Given the description of an element on the screen output the (x, y) to click on. 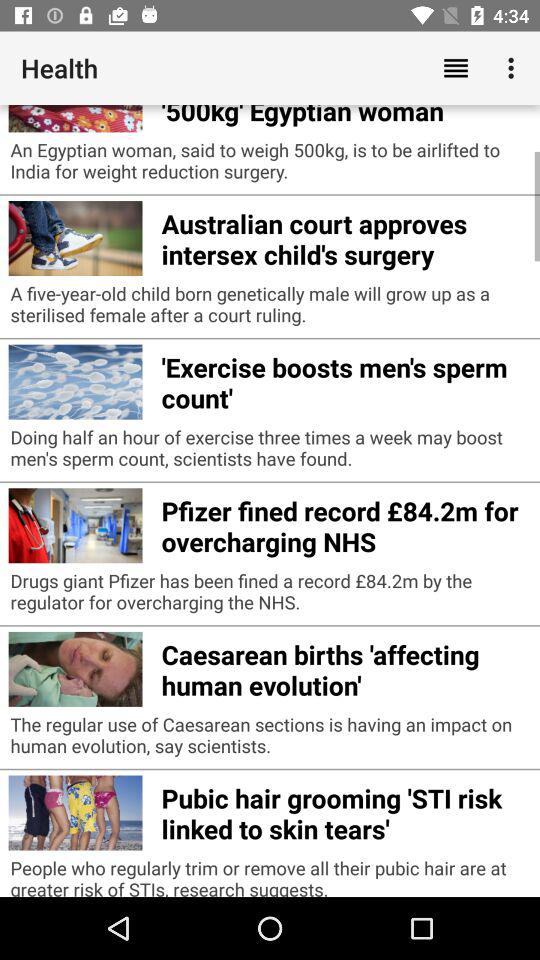
select the caesarean births affecting (345, 667)
